Given the description of an element on the screen output the (x, y) to click on. 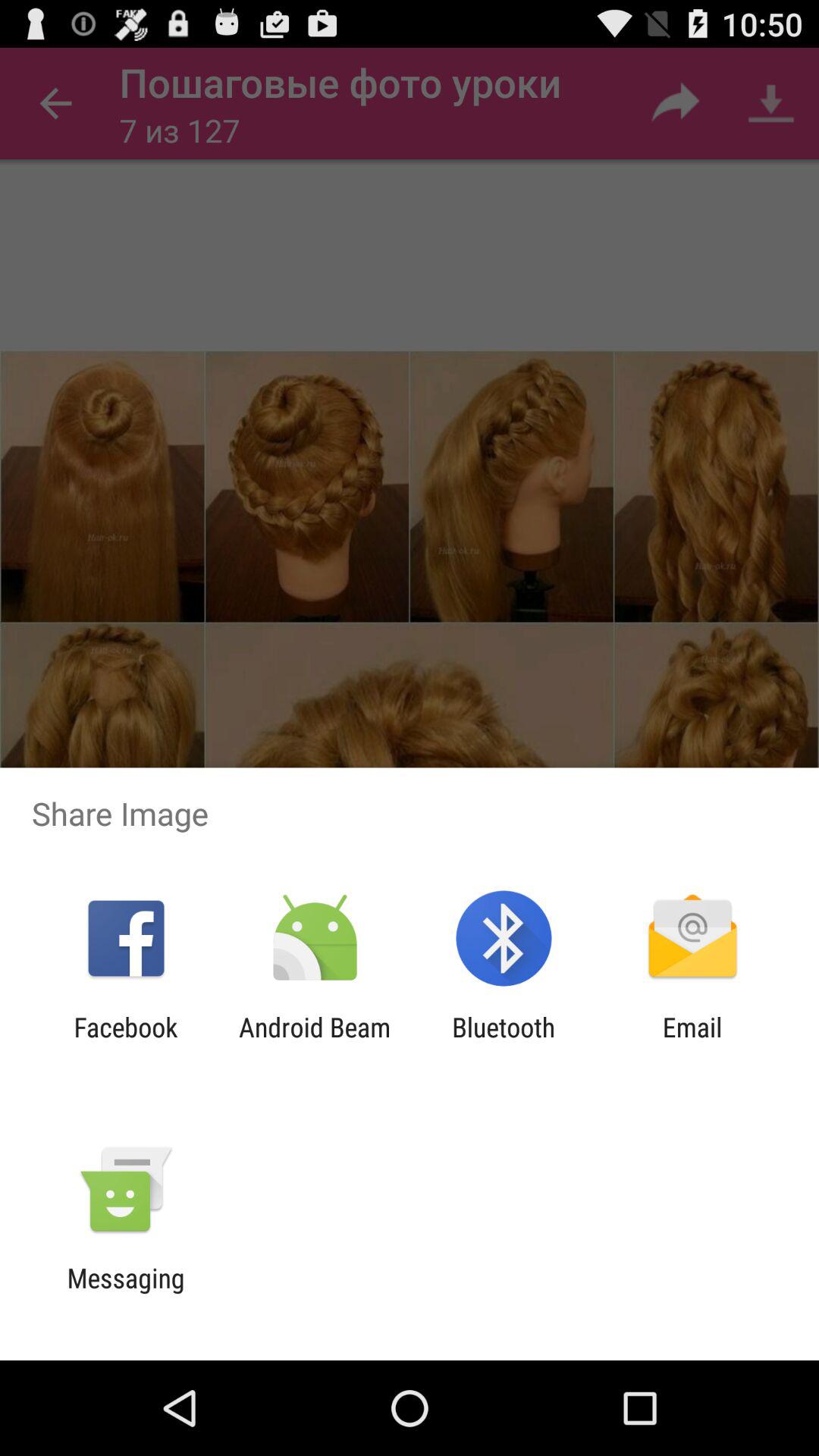
turn off the icon next to bluetooth (692, 1042)
